Given the description of an element on the screen output the (x, y) to click on. 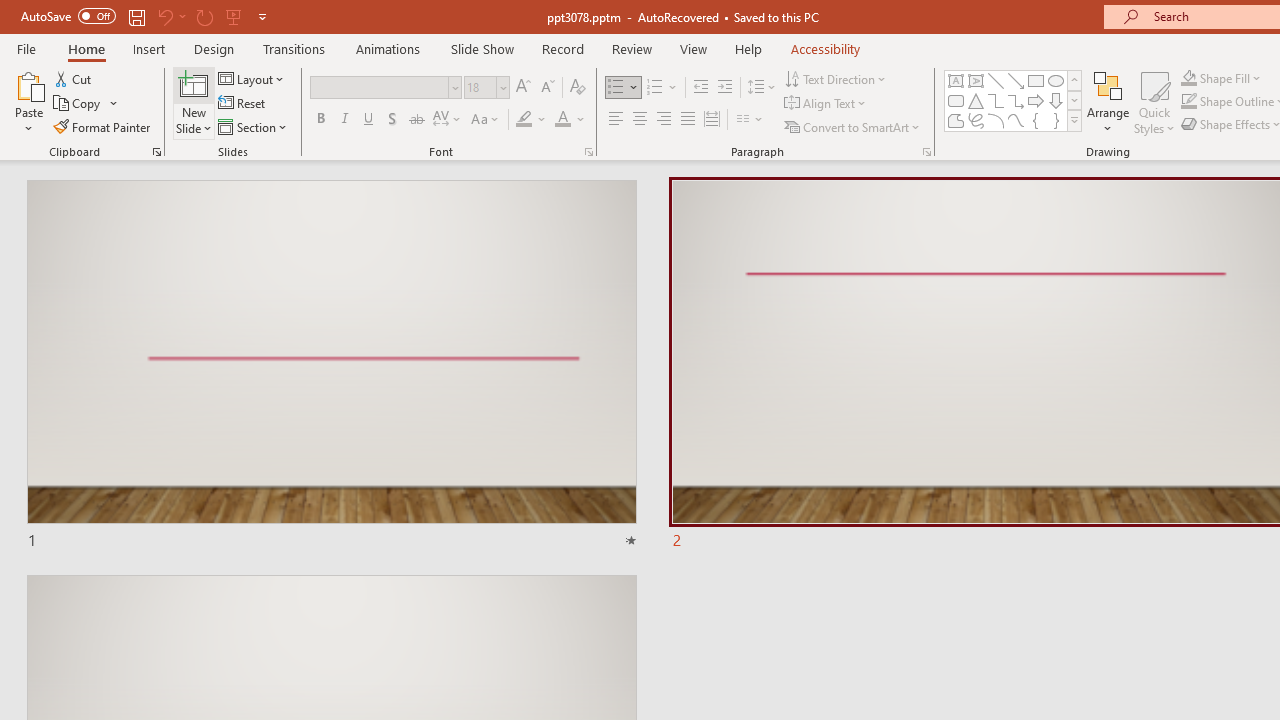
Columns (750, 119)
Office Clipboard... (156, 151)
Change Case (486, 119)
Text Highlight Color Yellow (524, 119)
Right Brace (1055, 120)
Arrow: Right (1035, 100)
Shape Fill Dark Green, Accent 2 (1188, 78)
